Given the description of an element on the screen output the (x, y) to click on. 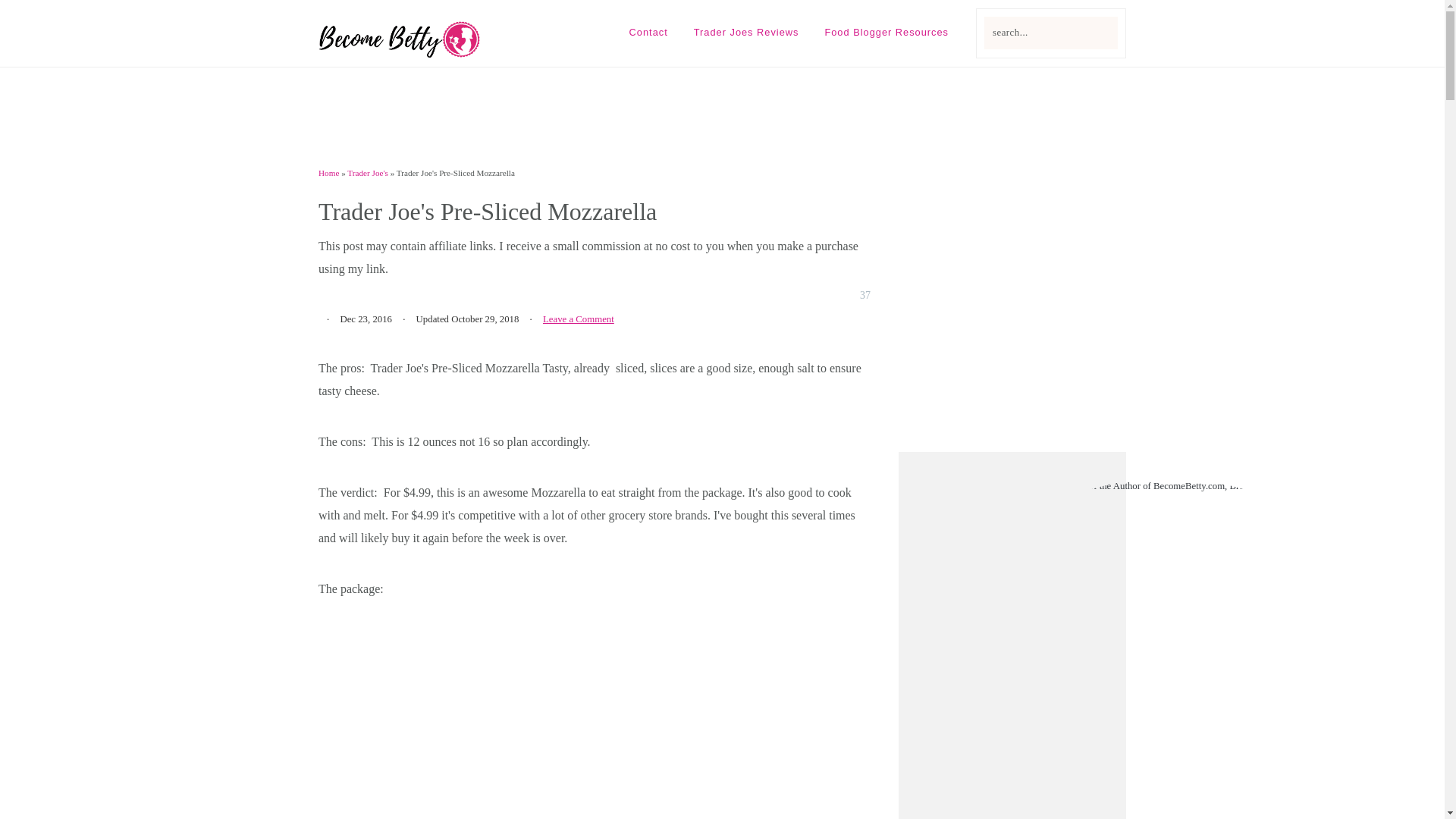
Leave a Comment (578, 318)
Food Blogger Resources (885, 32)
Contact (648, 32)
Home (328, 172)
Trader Joes Reviews (746, 32)
BecomeBetty.com (399, 52)
37 (847, 295)
